Given the description of an element on the screen output the (x, y) to click on. 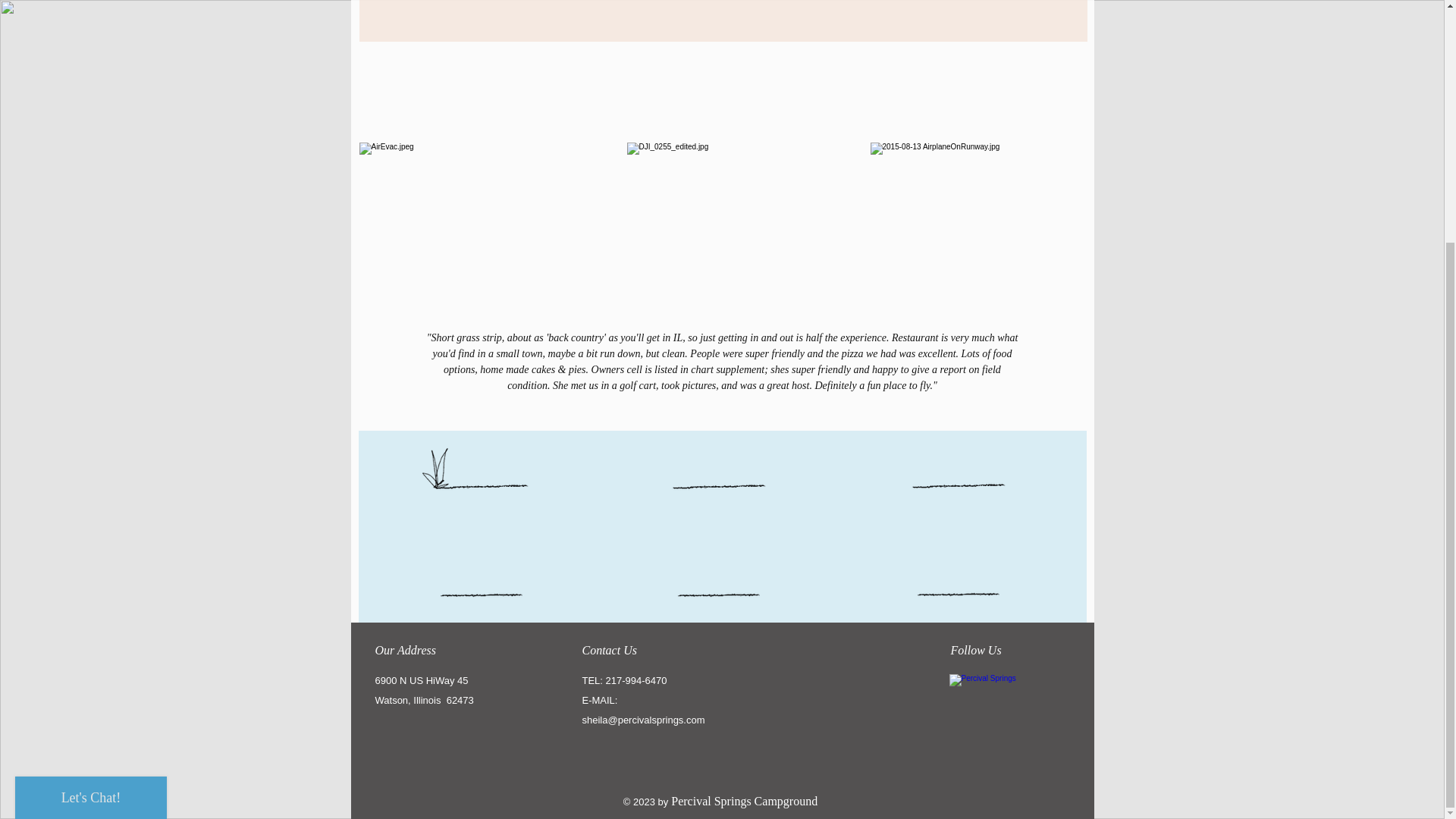
Wix Chat (87, 458)
